Given the description of an element on the screen output the (x, y) to click on. 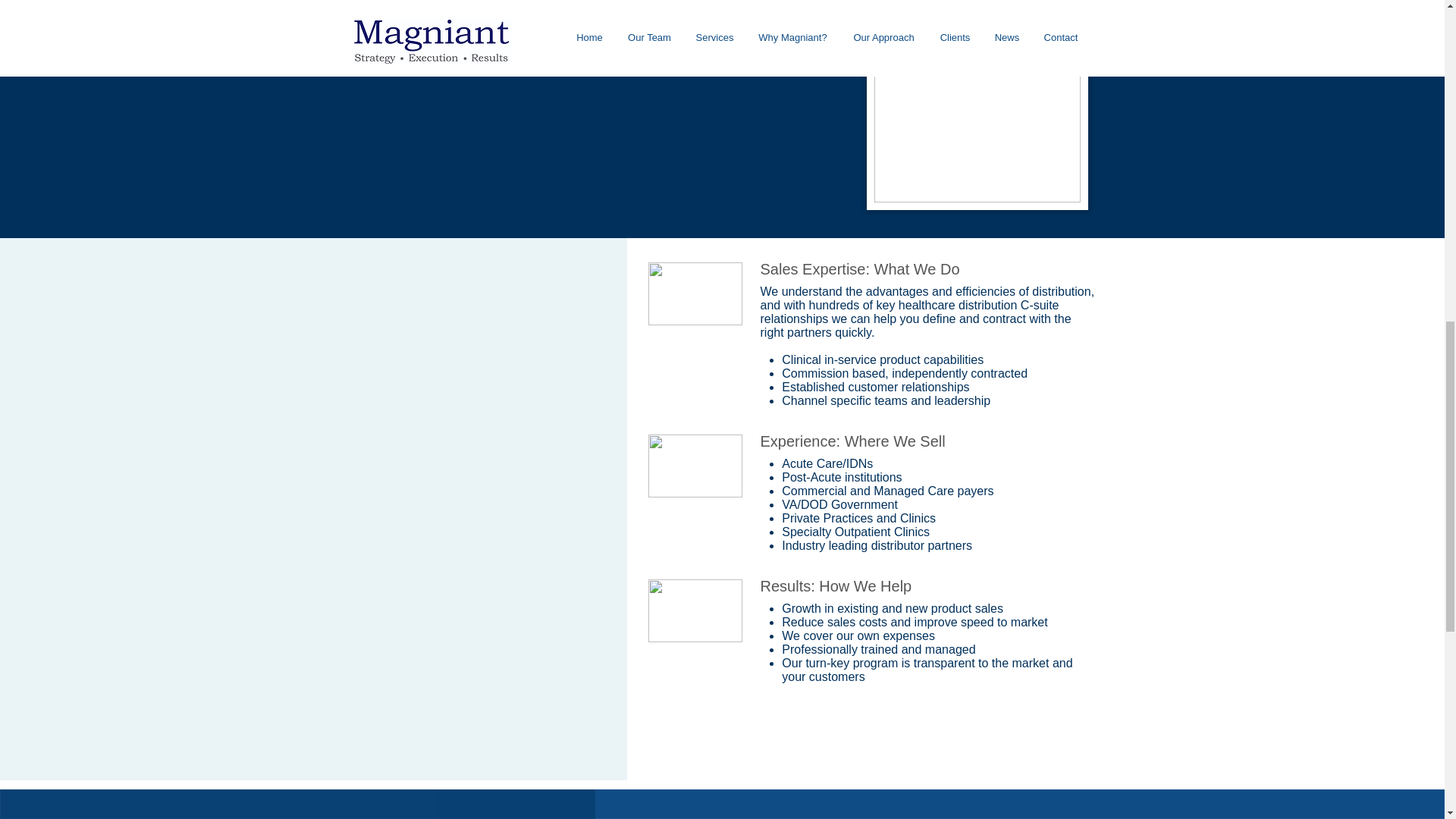
Doctors (694, 465)
Go Team  (694, 610)
Business People (694, 293)
